Given the description of an element on the screen output the (x, y) to click on. 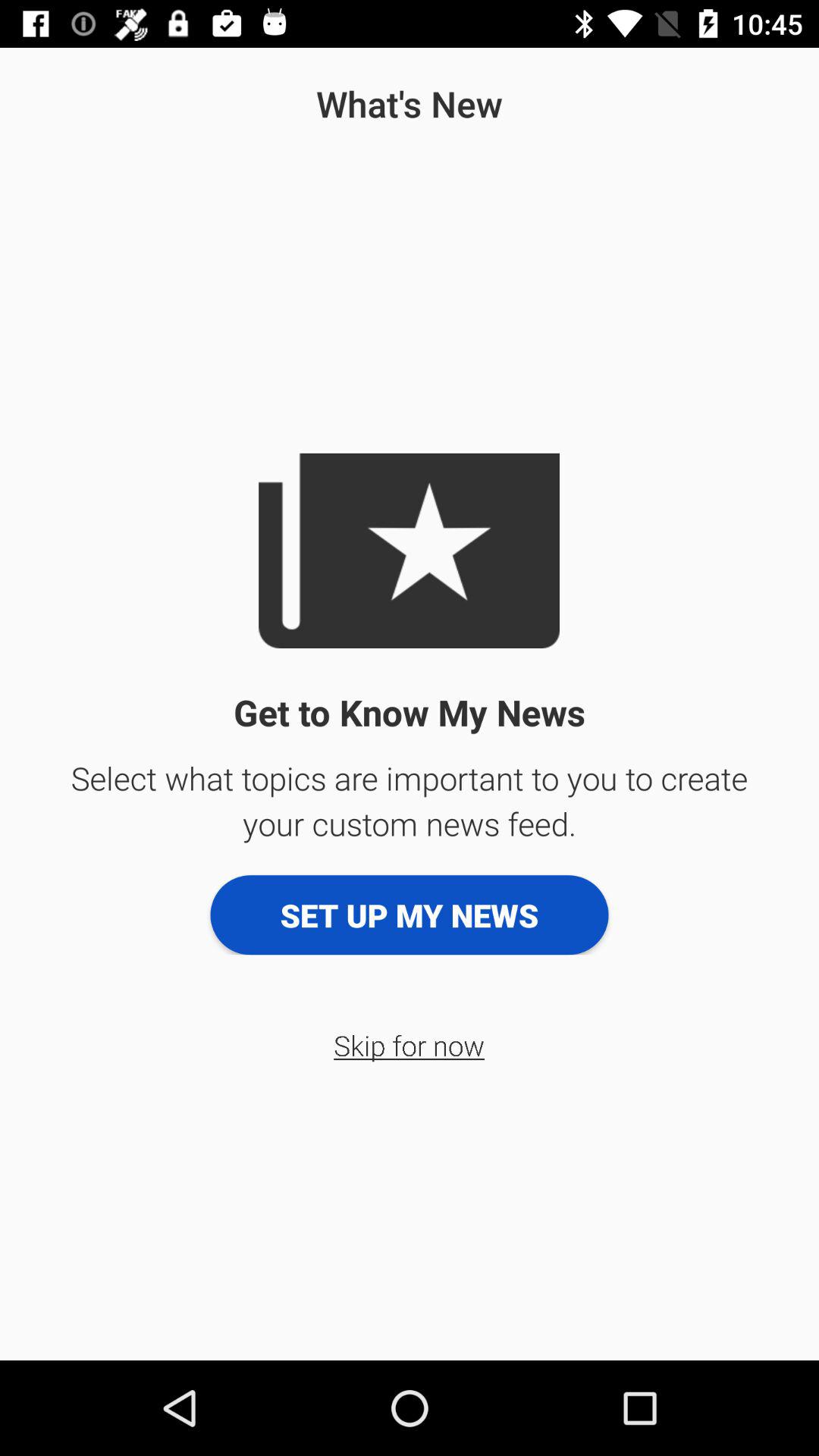
open the set up my (409, 914)
